Given the description of an element on the screen output the (x, y) to click on. 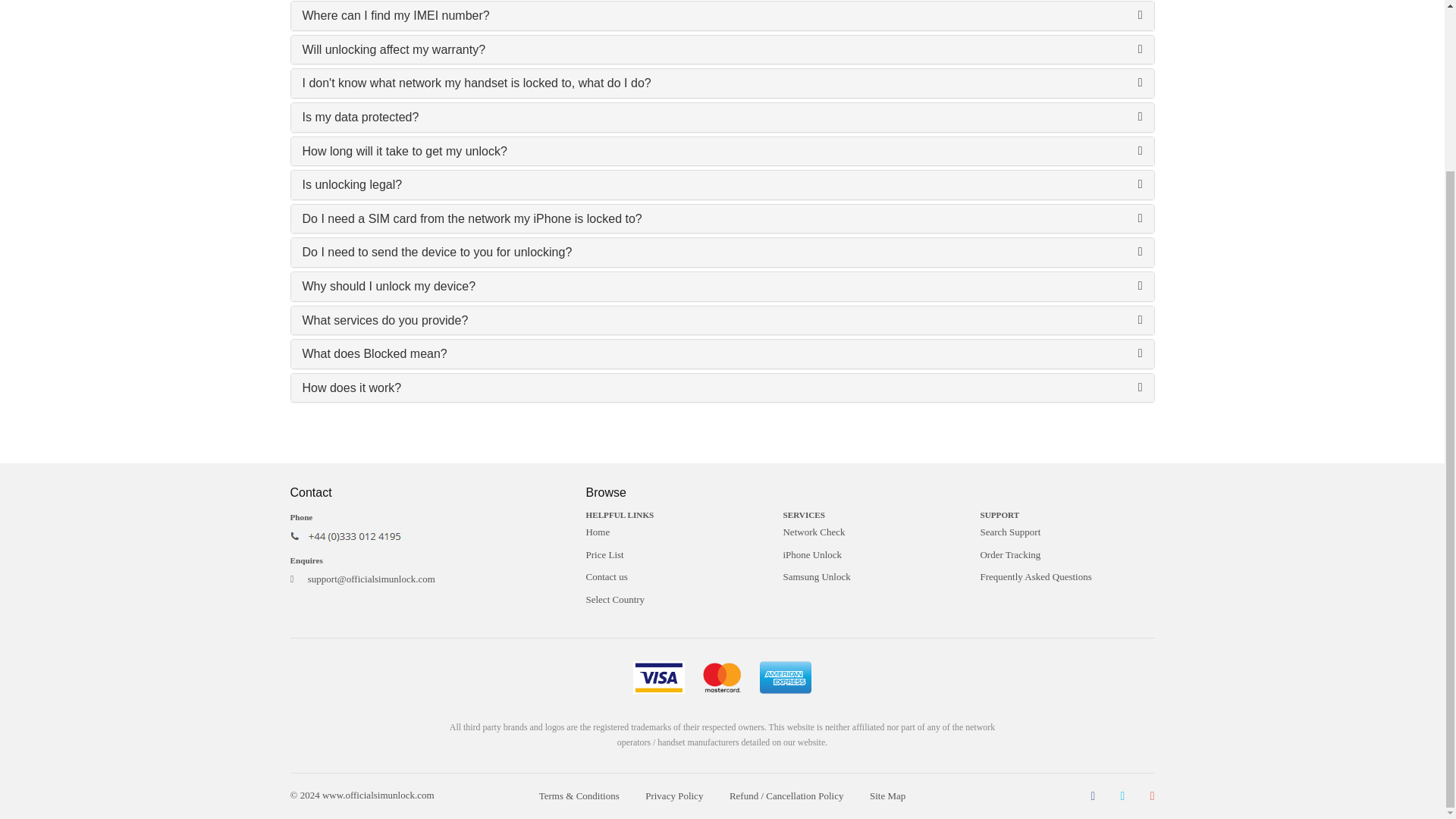
Will unlocking affect my warranty? (392, 49)
Site Map (887, 795)
How long will it take to get my unlock? (403, 151)
Is my data protected? (360, 116)
Search Support (1066, 532)
Contact us (672, 577)
Where can I find my IMEI number? (395, 15)
Order Tracking (1066, 554)
Frequently Asked Questions (1066, 577)
